Given the description of an element on the screen output the (x, y) to click on. 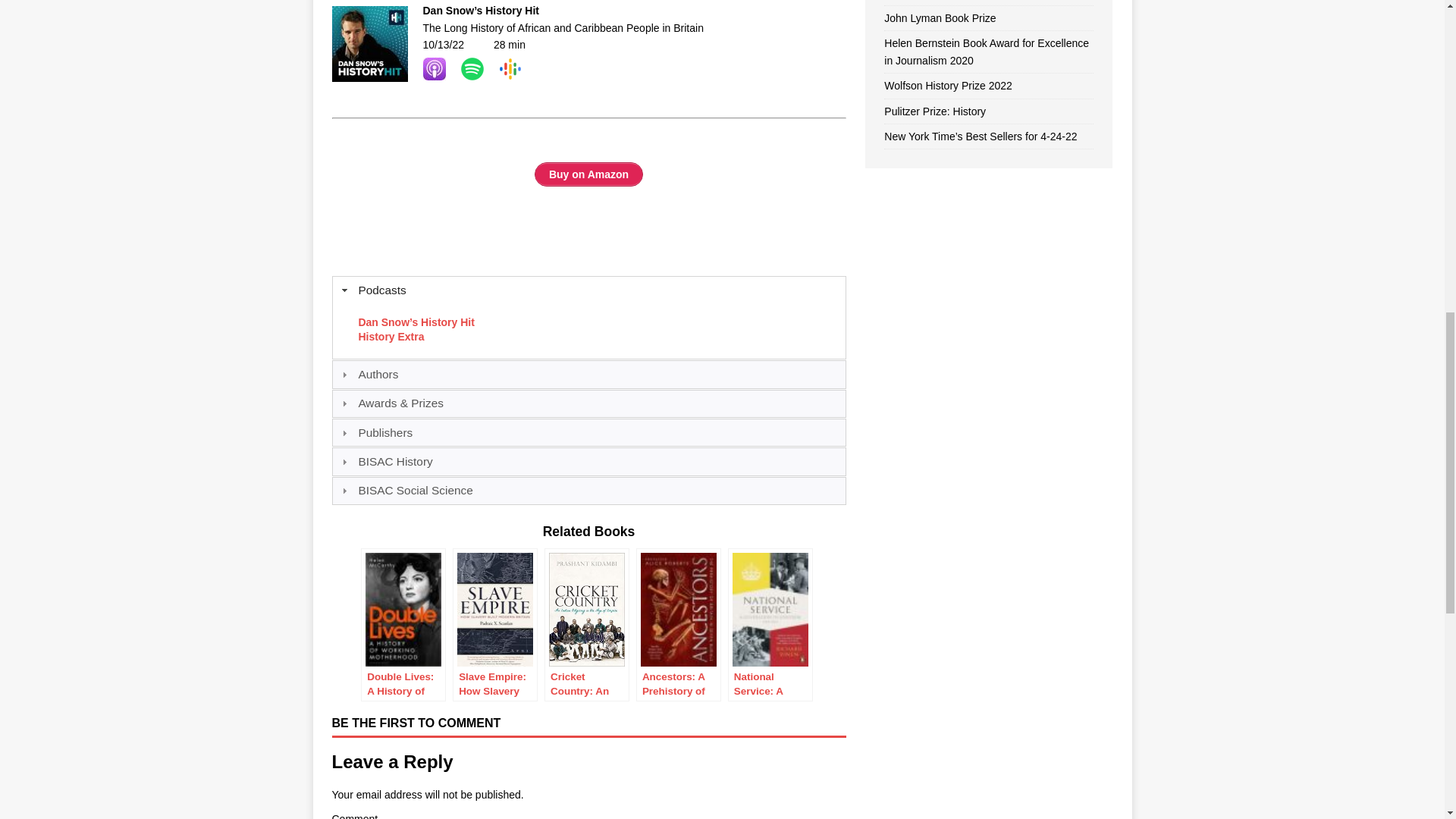
National Service: A Generation in Uniform 1945-1963 (770, 624)
Ancestors: A Prehistory of Britain in Seven Burials (678, 624)
Double Lives: A History of Working Motherhood (403, 624)
Cricket Country: An Indian Odyssey in the Age of Empire (586, 624)
